Given the description of an element on the screen output the (x, y) to click on. 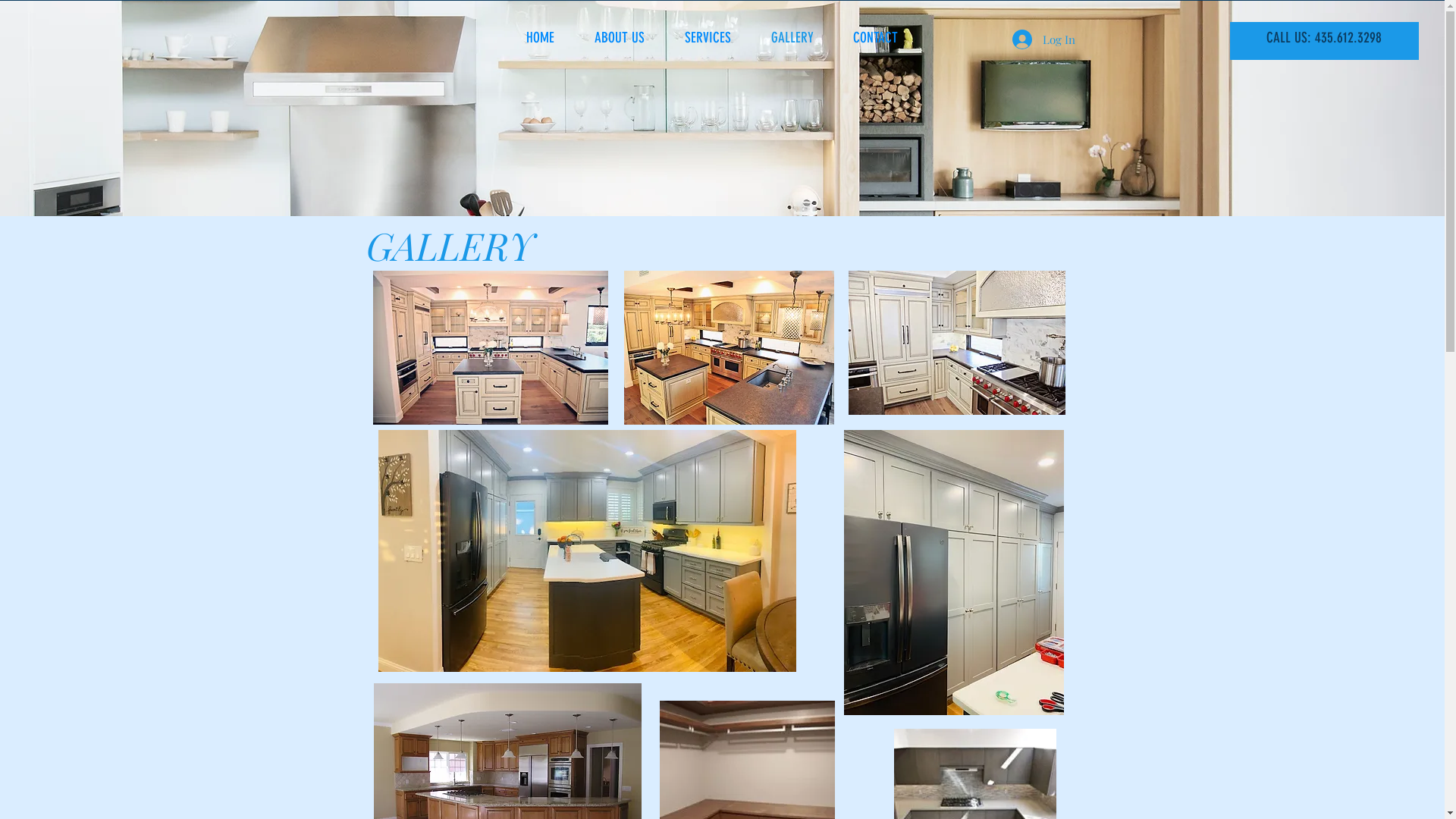
GALLERY Element type: text (800, 37)
IMG_2212.jpg Element type: hover (953, 572)
SERVICES Element type: text (716, 37)
CONTACT Element type: text (883, 37)
Log In Element type: text (1043, 39)
IMG_2234.jpg Element type: hover (586, 550)
HOME Element type: text (548, 37)
ABOUT US Element type: text (627, 37)
